Given the description of an element on the screen output the (x, y) to click on. 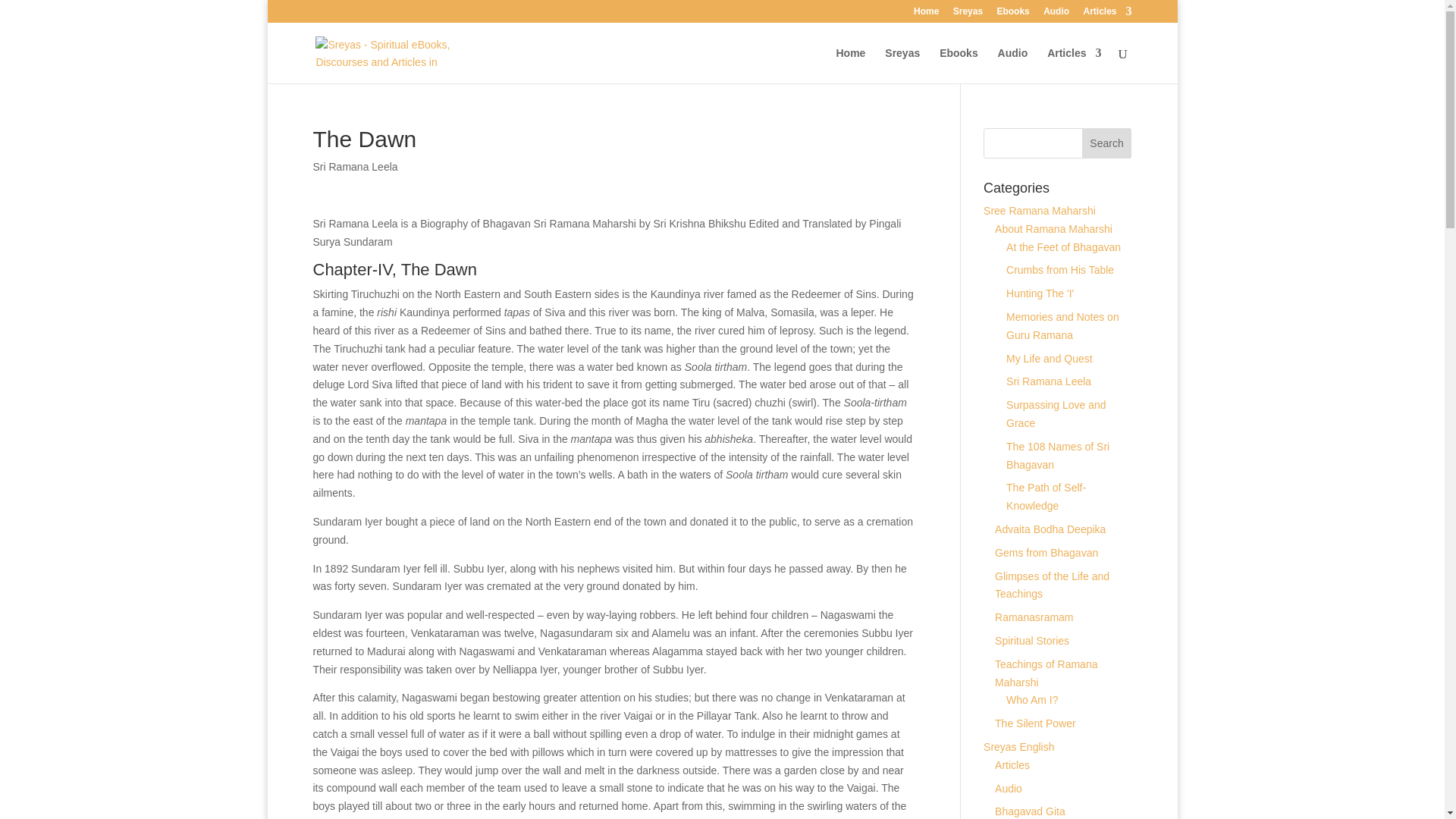
Articles (1073, 65)
Sri Ramana Leela (1048, 381)
Spiritual Stories (1031, 640)
Audio (1055, 14)
Glimpses of the Life and Teachings (1051, 585)
The Path of Self-Knowledge (1046, 496)
Articles (1107, 14)
Hunting The 'I' (1040, 293)
The 108 Names of Sri Bhagavan (1057, 455)
The Silent Power (1034, 723)
